Given the description of an element on the screen output the (x, y) to click on. 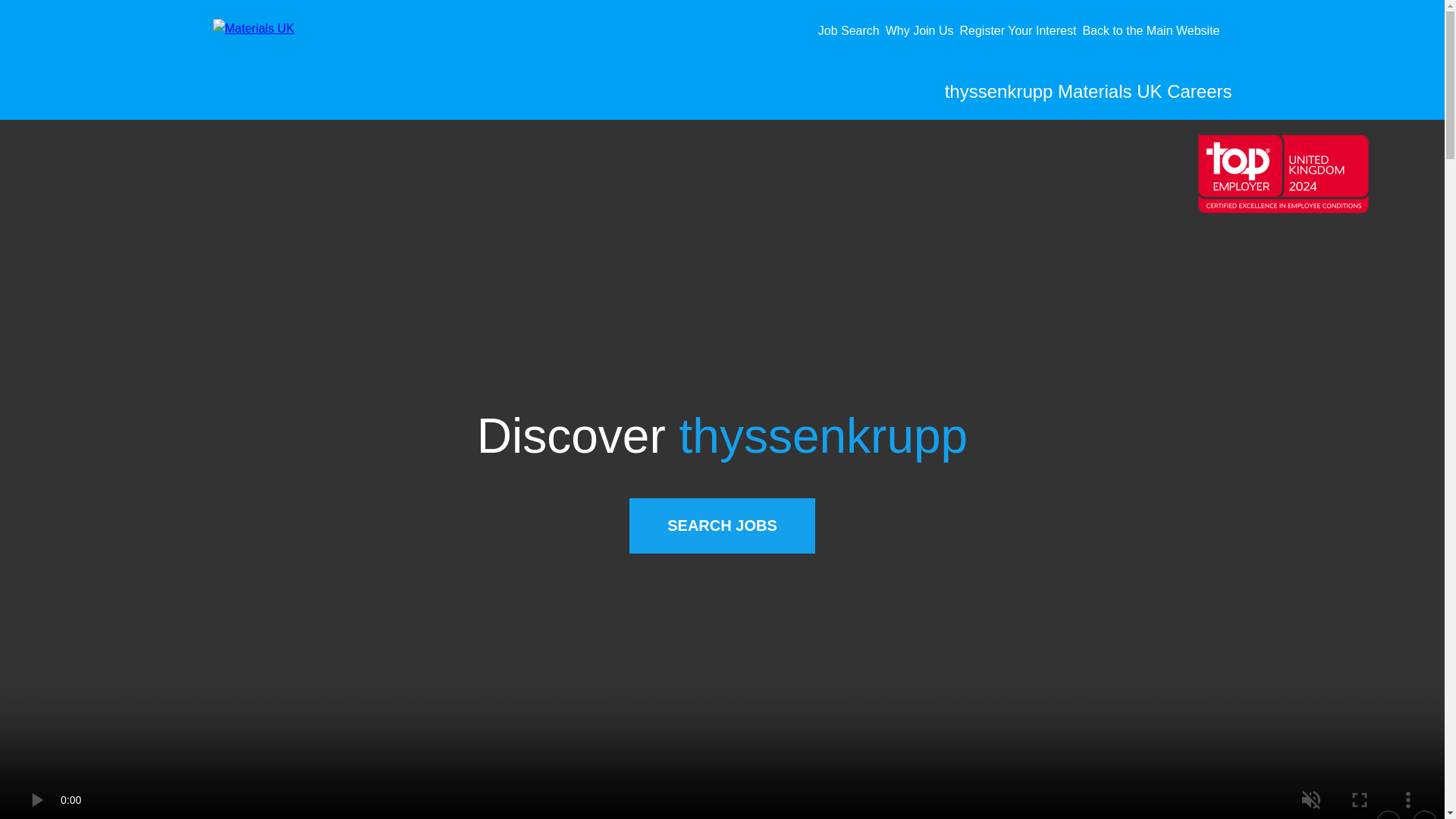
SEARCH JOBS (720, 525)
Why Join Us (922, 30)
Register Your Interest (1021, 30)
Job Search (851, 30)
Back to the Main Website (1153, 30)
